Given the description of an element on the screen output the (x, y) to click on. 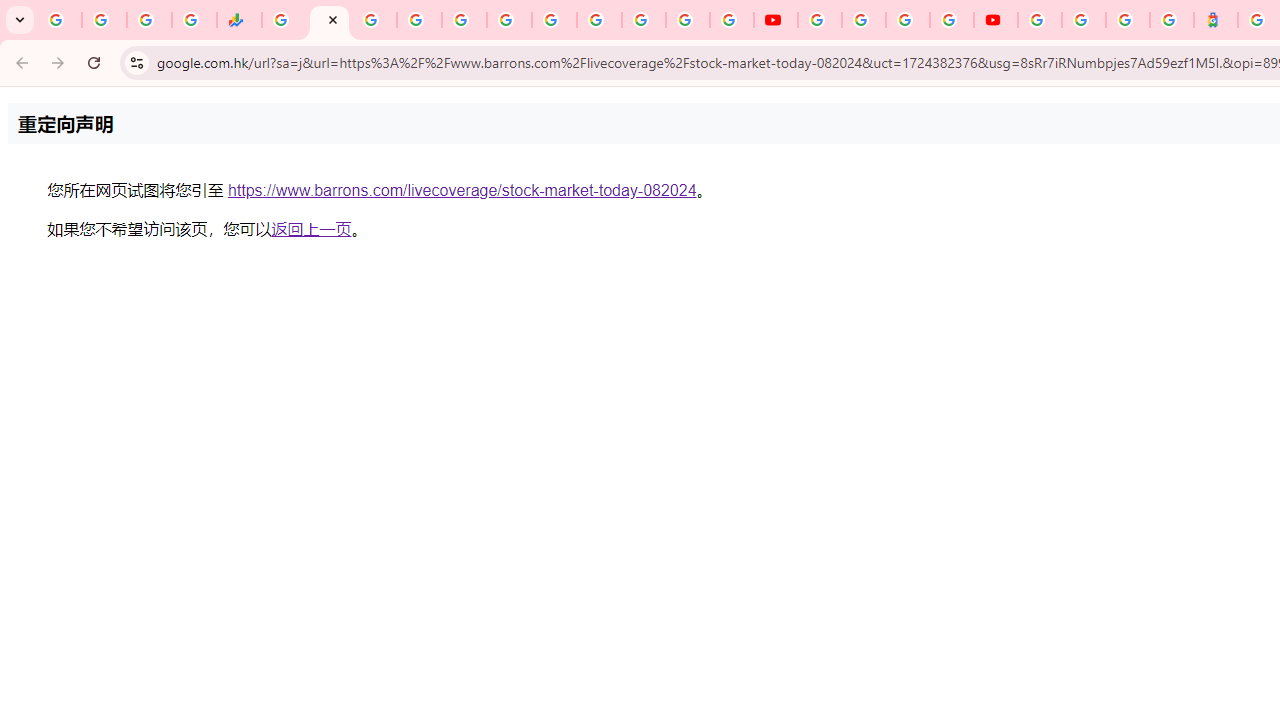
YouTube (599, 20)
Atour Hotel - Google hotels (1215, 20)
YouTube (775, 20)
Create your Google Account (907, 20)
Android TV Policies and Guidelines - Transparency Center (554, 20)
